Given the description of an element on the screen output the (x, y) to click on. 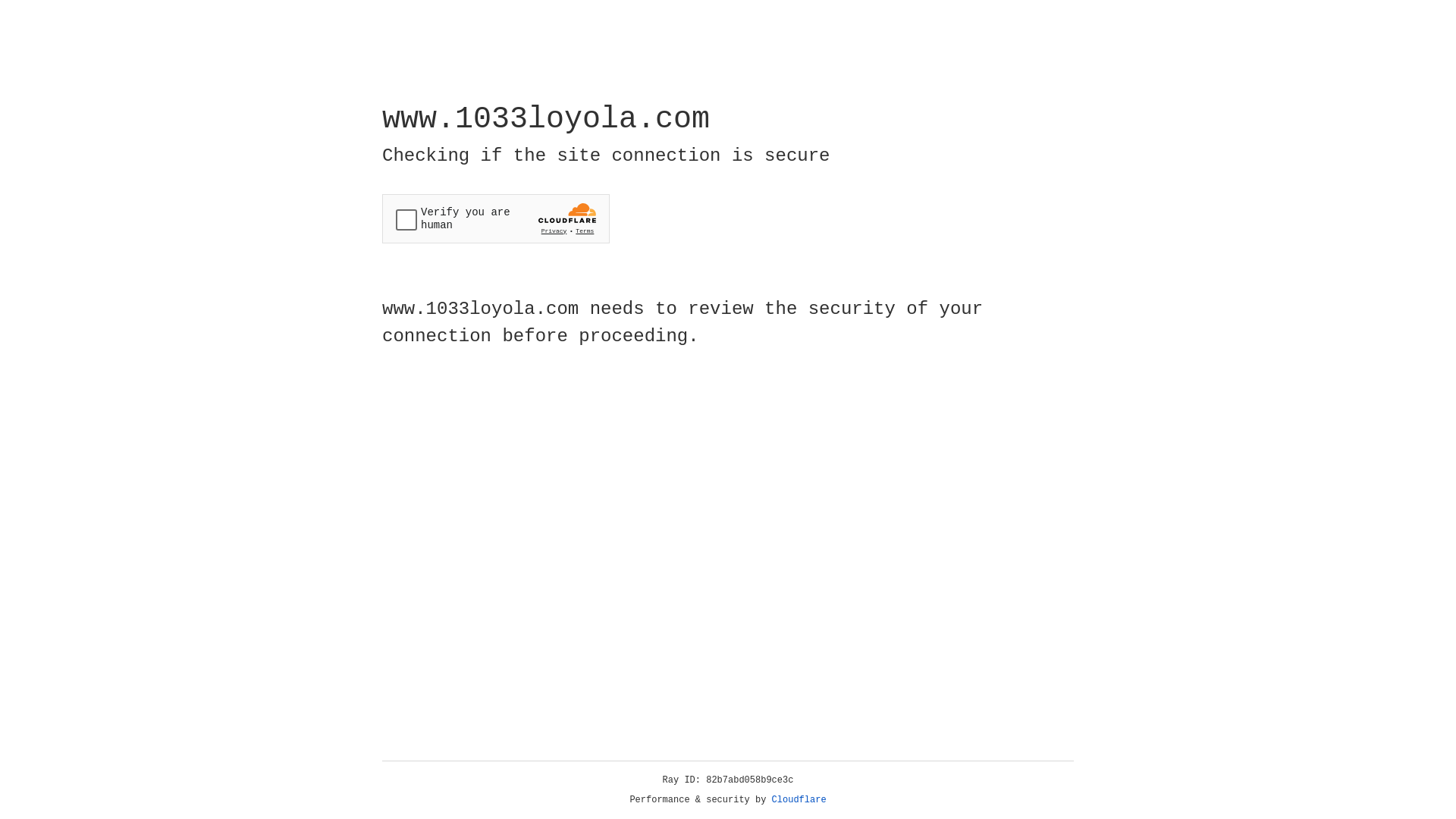
Widget containing a Cloudflare security challenge Element type: hover (495, 218)
Cloudflare Element type: text (798, 799)
